Given the description of an element on the screen output the (x, y) to click on. 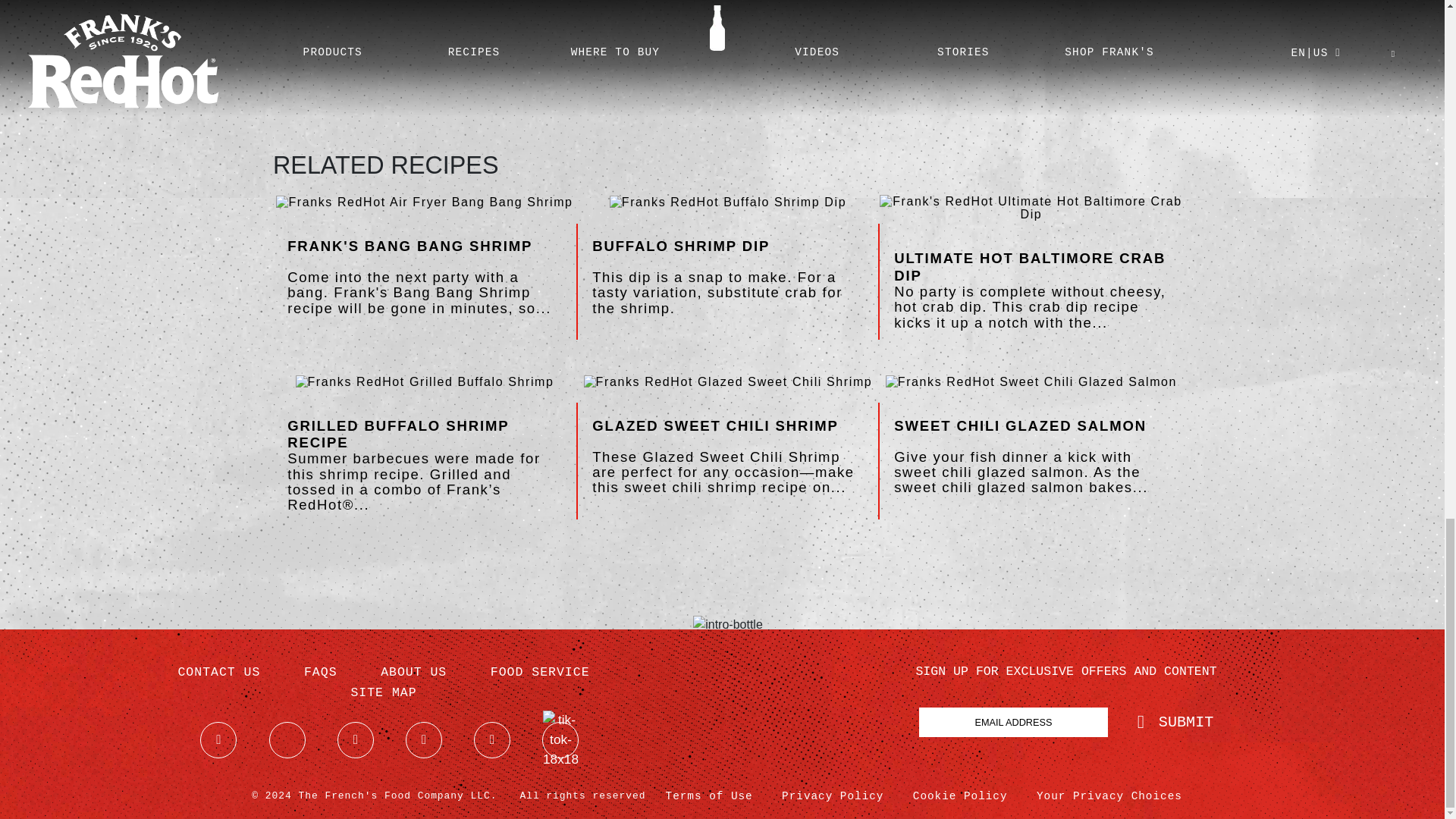
Franks RedHot Grilled Buffalo Shrimp (424, 382)
Franks RedHot Air Fryer Bang Bang Shrimp (424, 202)
SUBMIT (1174, 721)
Franks RedHot Buffalo Shrimp Dip (727, 202)
Privacy Policy (832, 796)
SITE MAP (383, 693)
Terms of Use (708, 796)
Frank's RedHot Ultimate Hot Baltimore Crab Dip (1030, 207)
